Given the description of an element on the screen output the (x, y) to click on. 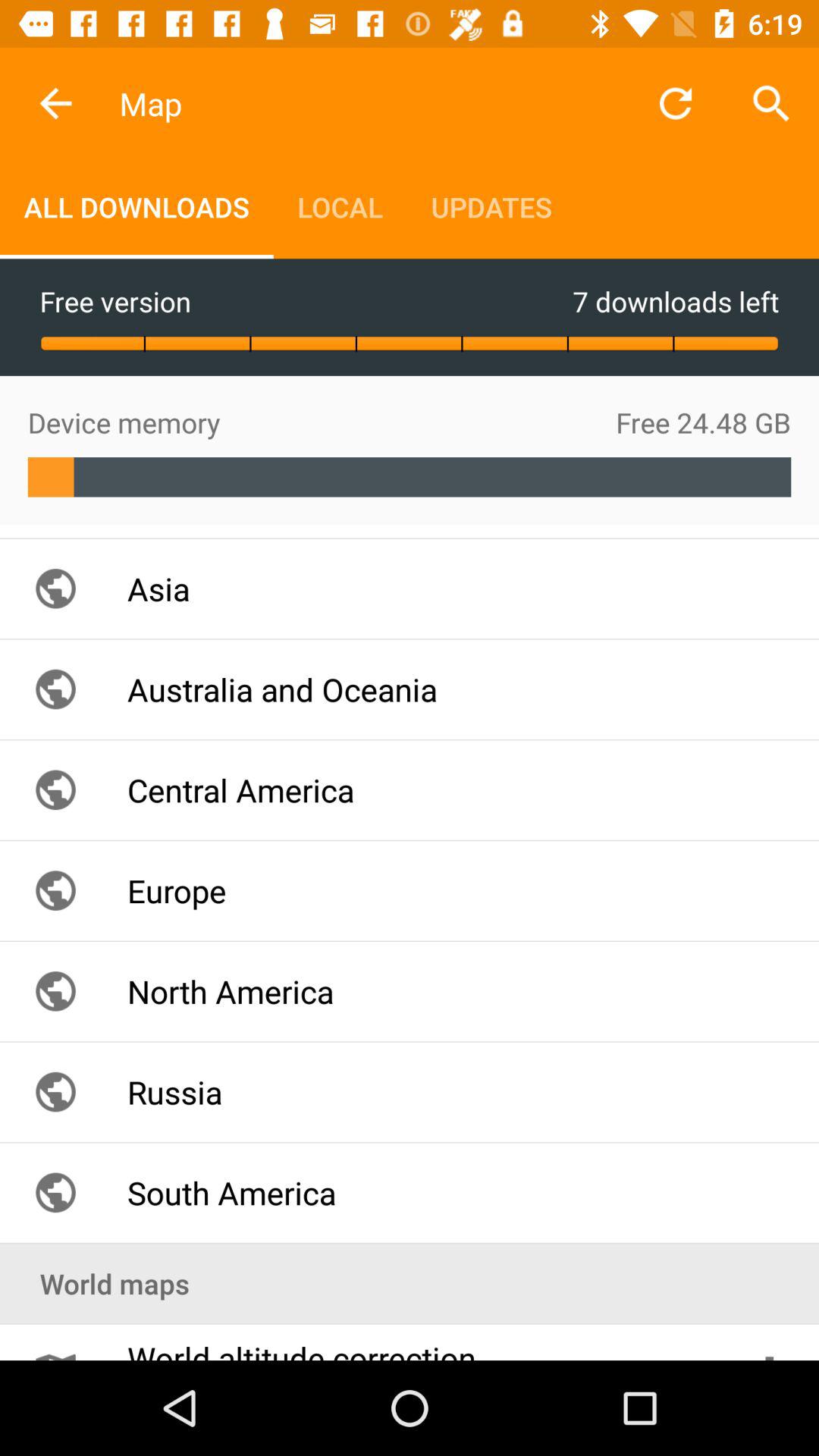
press icon to the left of map icon (55, 103)
